Given the description of an element on the screen output the (x, y) to click on. 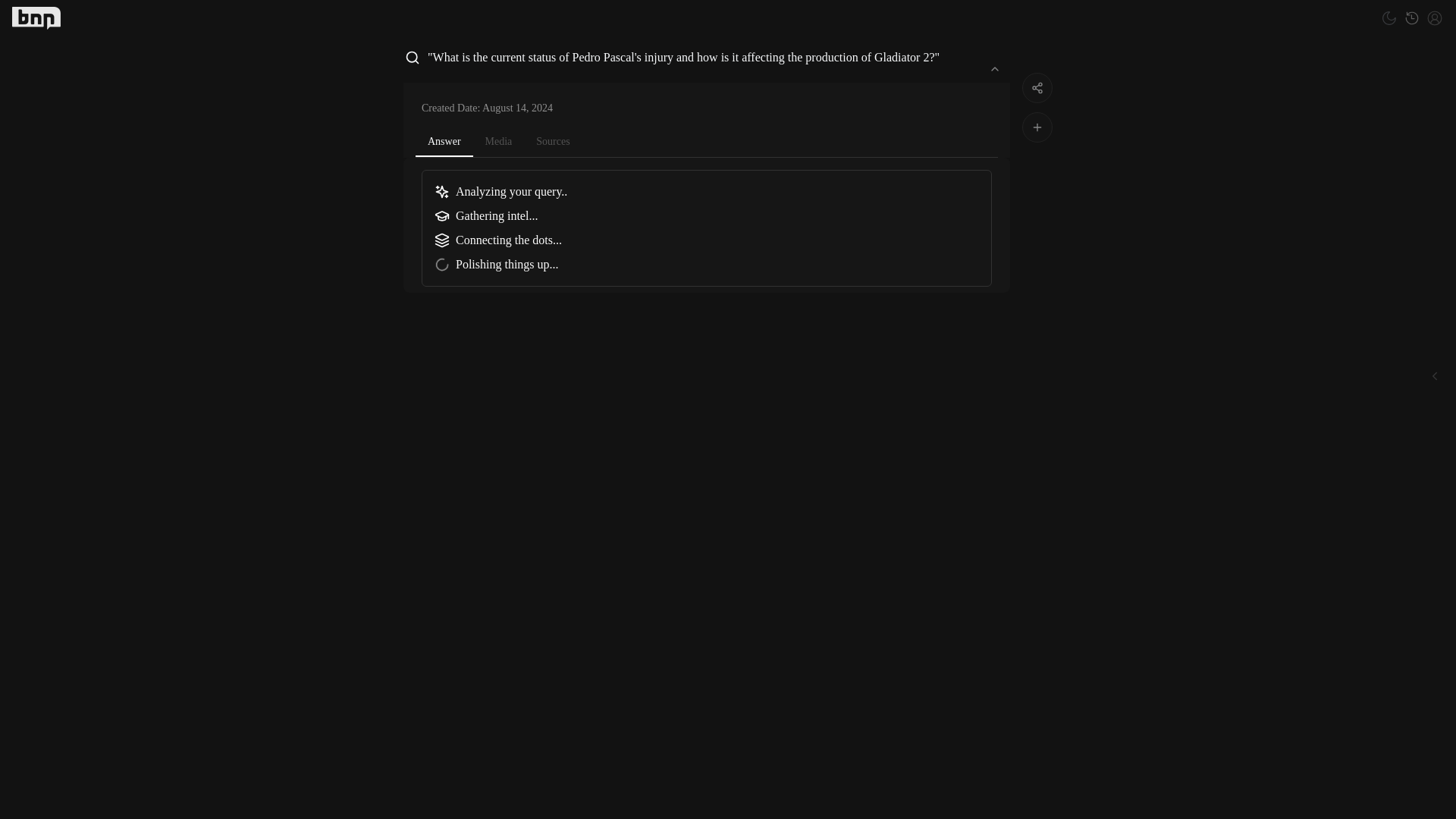
Sources (552, 141)
BNNGPT (36, 17)
Answer (443, 142)
Toggle theme (1388, 17)
collapse (994, 68)
Media (498, 141)
